Given the description of an element on the screen output the (x, y) to click on. 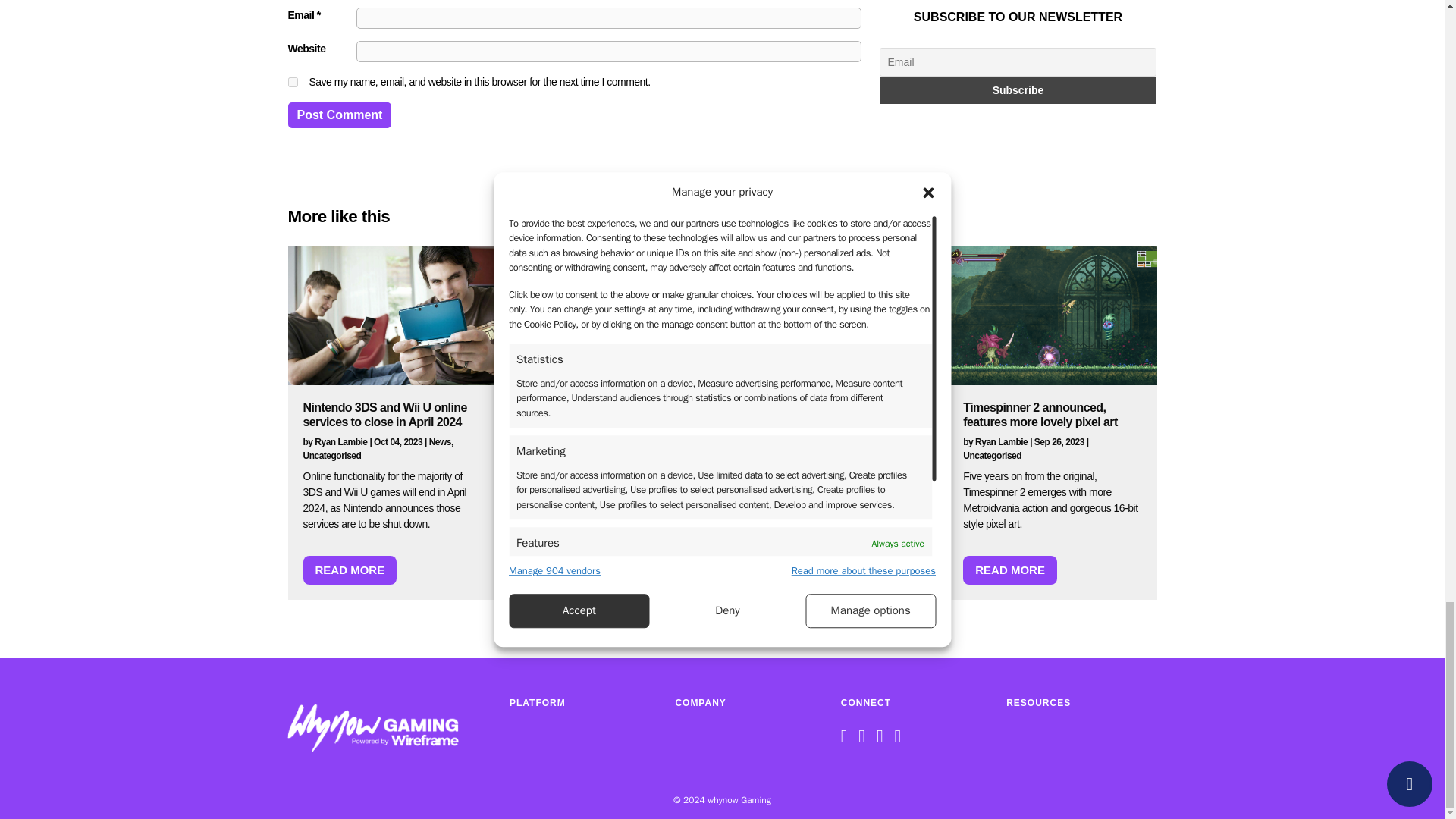
Follow us on Threads (900, 738)
Post Comment (339, 114)
Follow us on Instagram (883, 738)
Post Comment (339, 114)
Follow us on Twitter (865, 738)
Follow us on Facebook (848, 738)
